Given the description of an element on the screen output the (x, y) to click on. 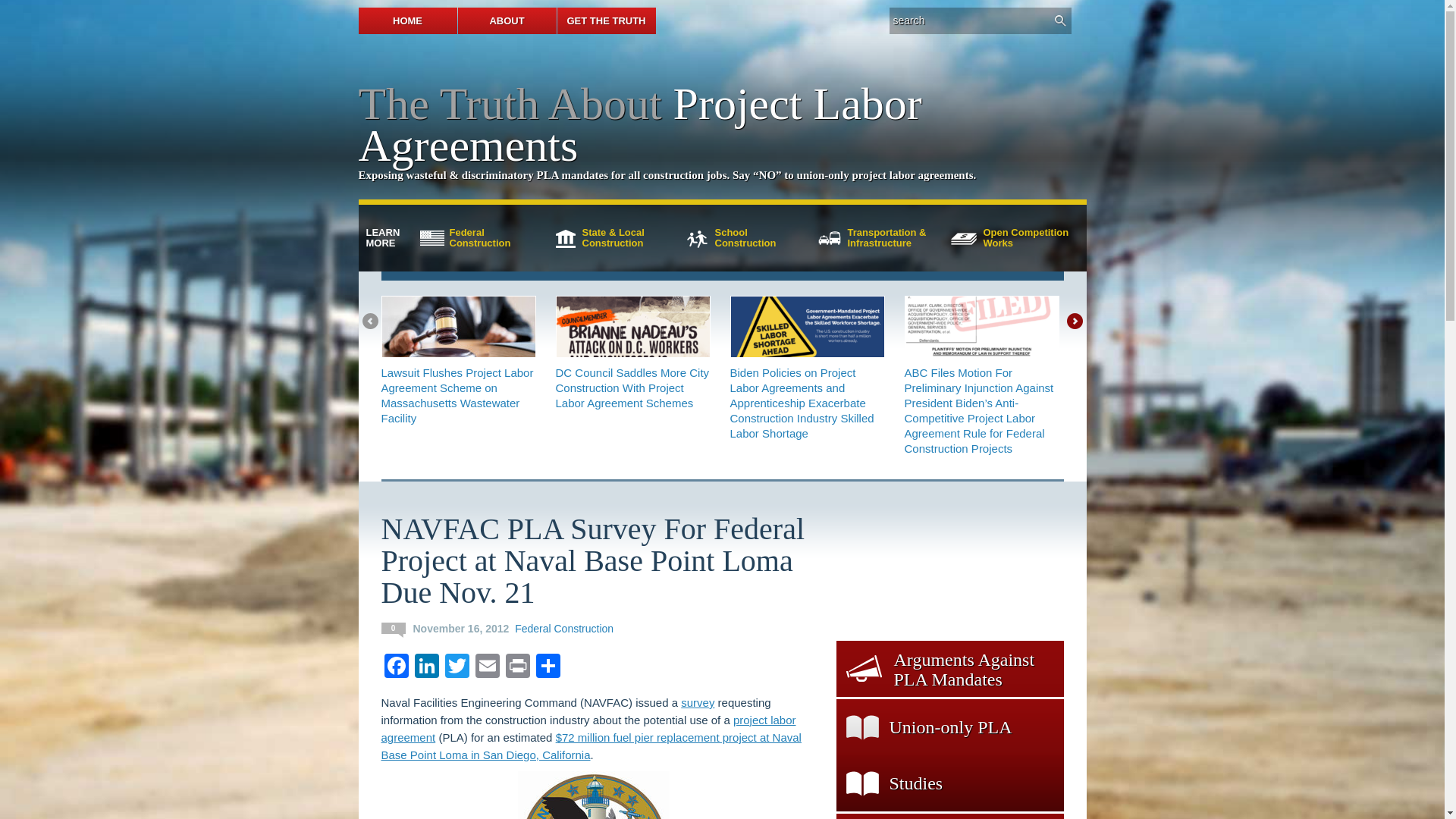
Federal Construction (563, 628)
Facebook (750, 237)
Print (395, 667)
Email (517, 667)
Open Competition Works (485, 237)
LinkedIn (486, 667)
0 (1009, 237)
Email (425, 667)
GET THE TRUTH (392, 630)
Twitter (486, 667)
LinkedIn (605, 20)
